Given the description of an element on the screen output the (x, y) to click on. 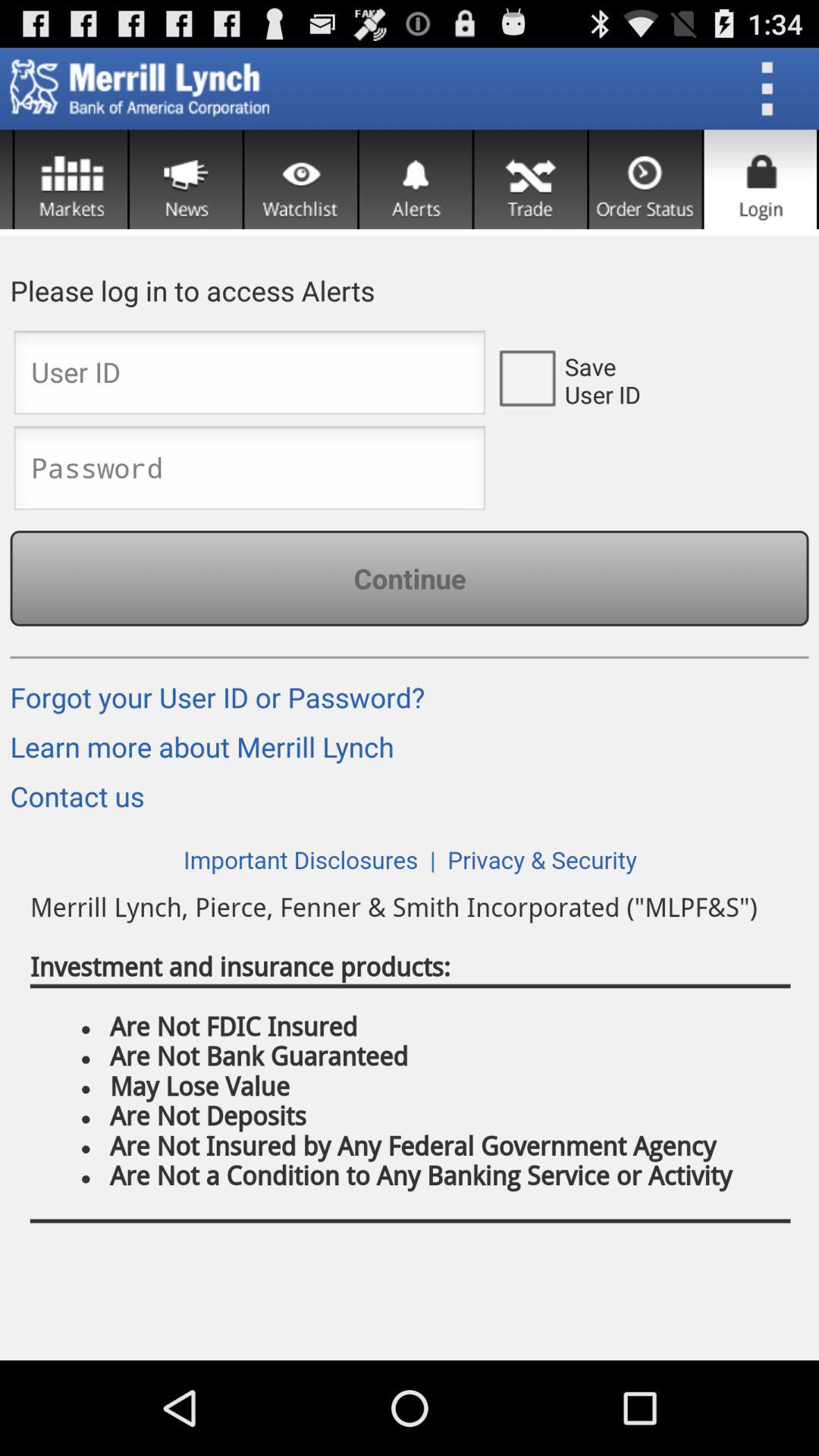
login page (249, 376)
